Given the description of an element on the screen output the (x, y) to click on. 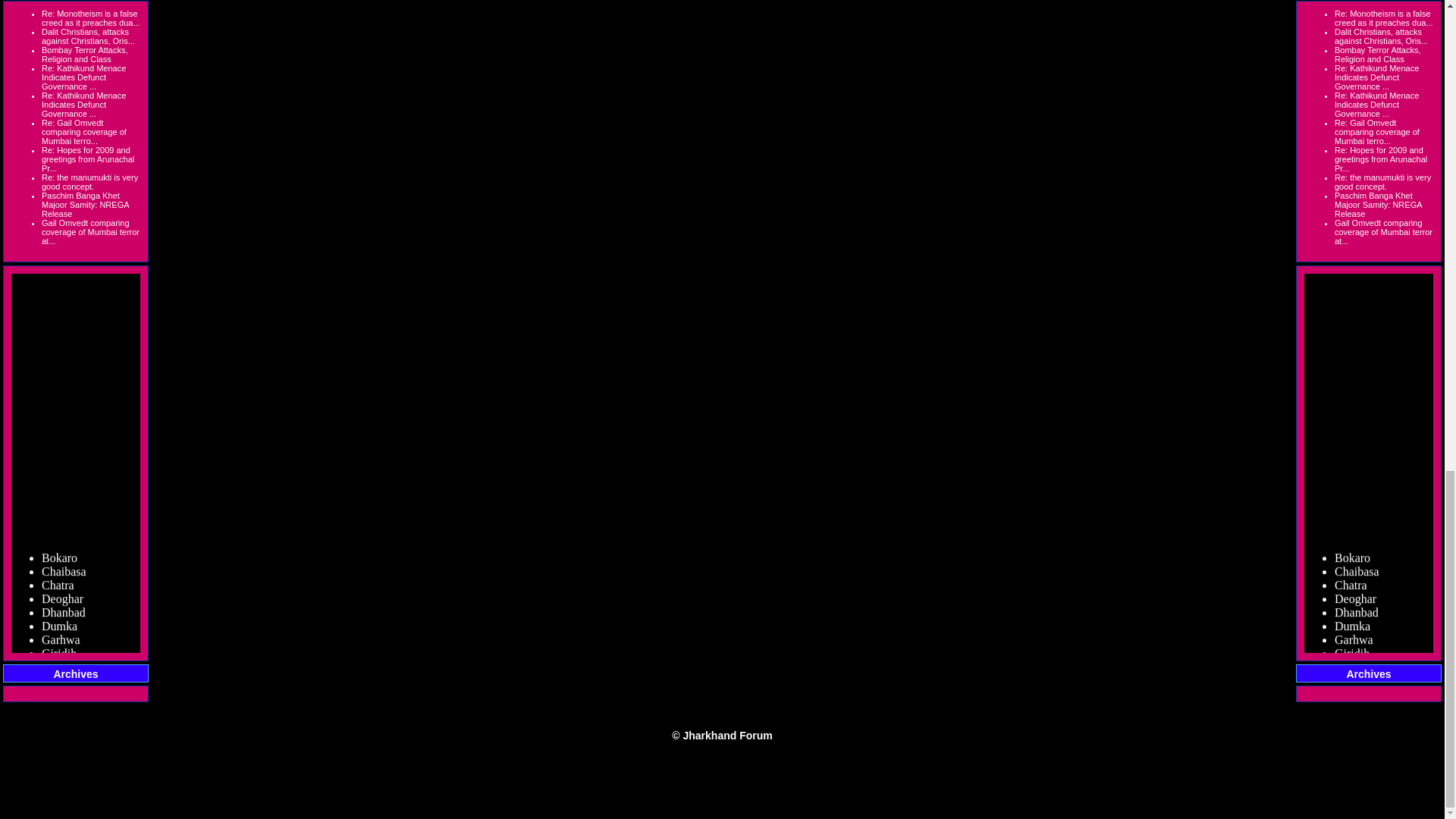
Dumka (59, 726)
Re: the manumukti is very good concept. (90, 181)
Dalit Christians, attacks against Christians, Oris... (88, 36)
Garhwa (61, 739)
Bokaro (59, 660)
Chatra (58, 686)
Re: Kathikund Menace Indicates Defunct Governance ... (83, 103)
Giridih (59, 753)
Re: Kathikund Menace Indicates Defunct Governance ... (83, 76)
Re: Hopes for 2009 and greetings from Arunachal Pr... (87, 158)
Bombay Terror Attacks, Religion and Class (85, 54)
Re: Gail Omvedt comparing coverage of Mumbai terro... (84, 131)
Chaibasa (63, 673)
Godda (58, 766)
Deoghar (62, 699)
